Given the description of an element on the screen output the (x, y) to click on. 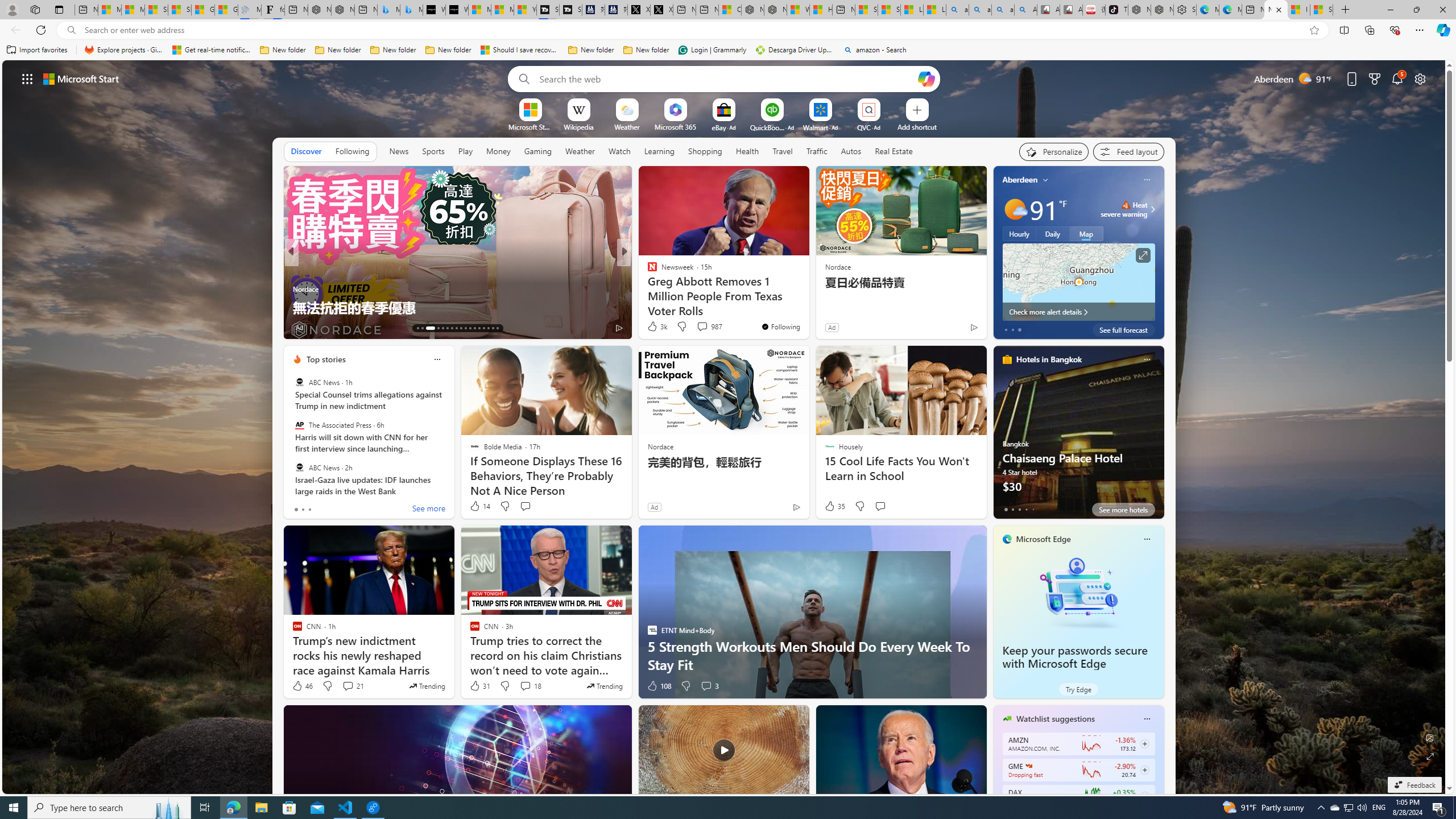
Interesting Engineering (647, 270)
55 Like (303, 327)
AutomationID: tab-18 (446, 328)
Newsweek (647, 270)
Health (746, 151)
45 Like (652, 327)
hotels-header-icon (1006, 358)
